Given the description of an element on the screen output the (x, y) to click on. 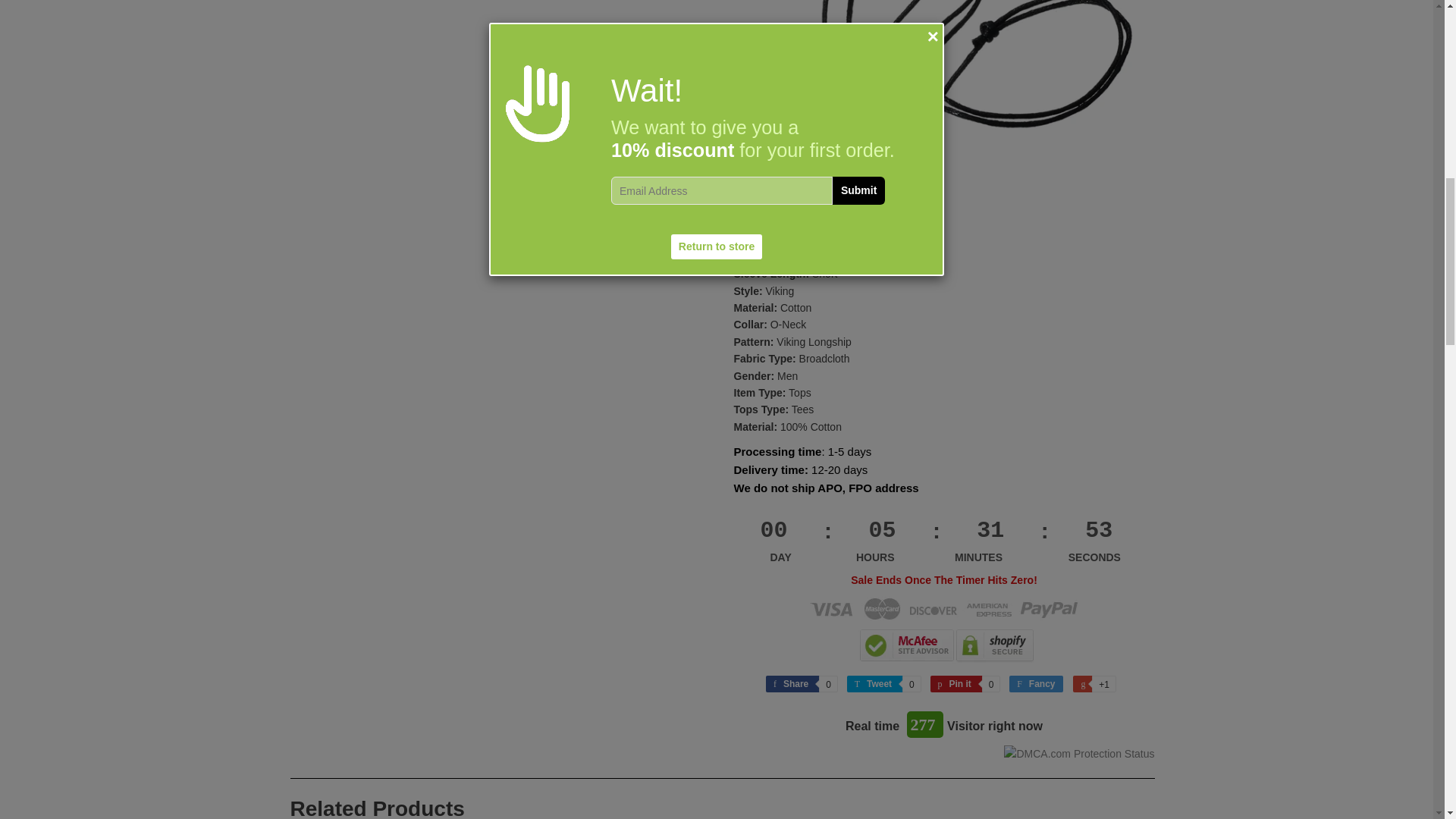
DMCA.com Protection Status (1079, 753)
